Given the description of an element on the screen output the (x, y) to click on. 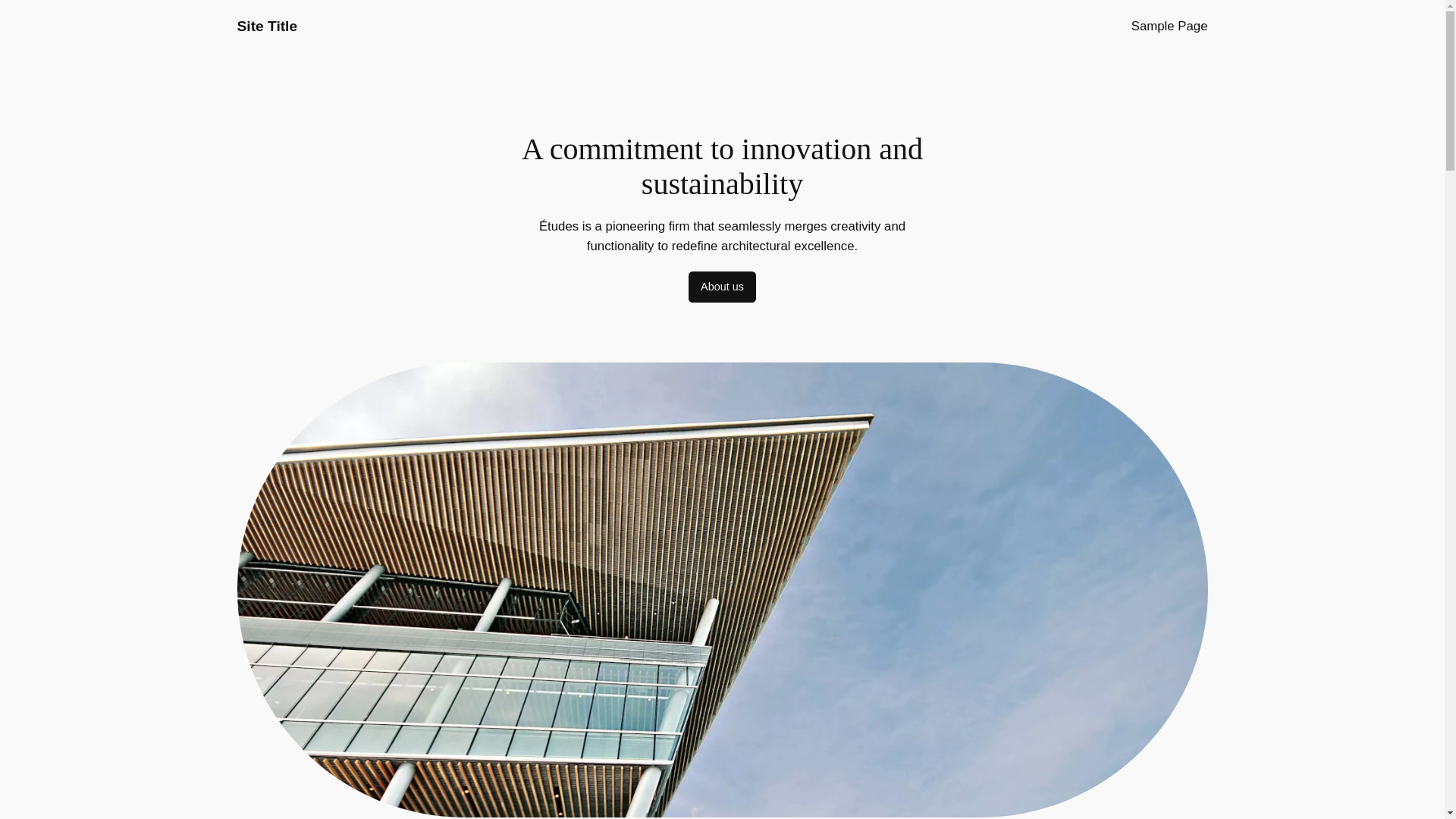
Sample Page (1169, 26)
Site Title (266, 26)
About us (721, 287)
